Given the description of an element on the screen output the (x, y) to click on. 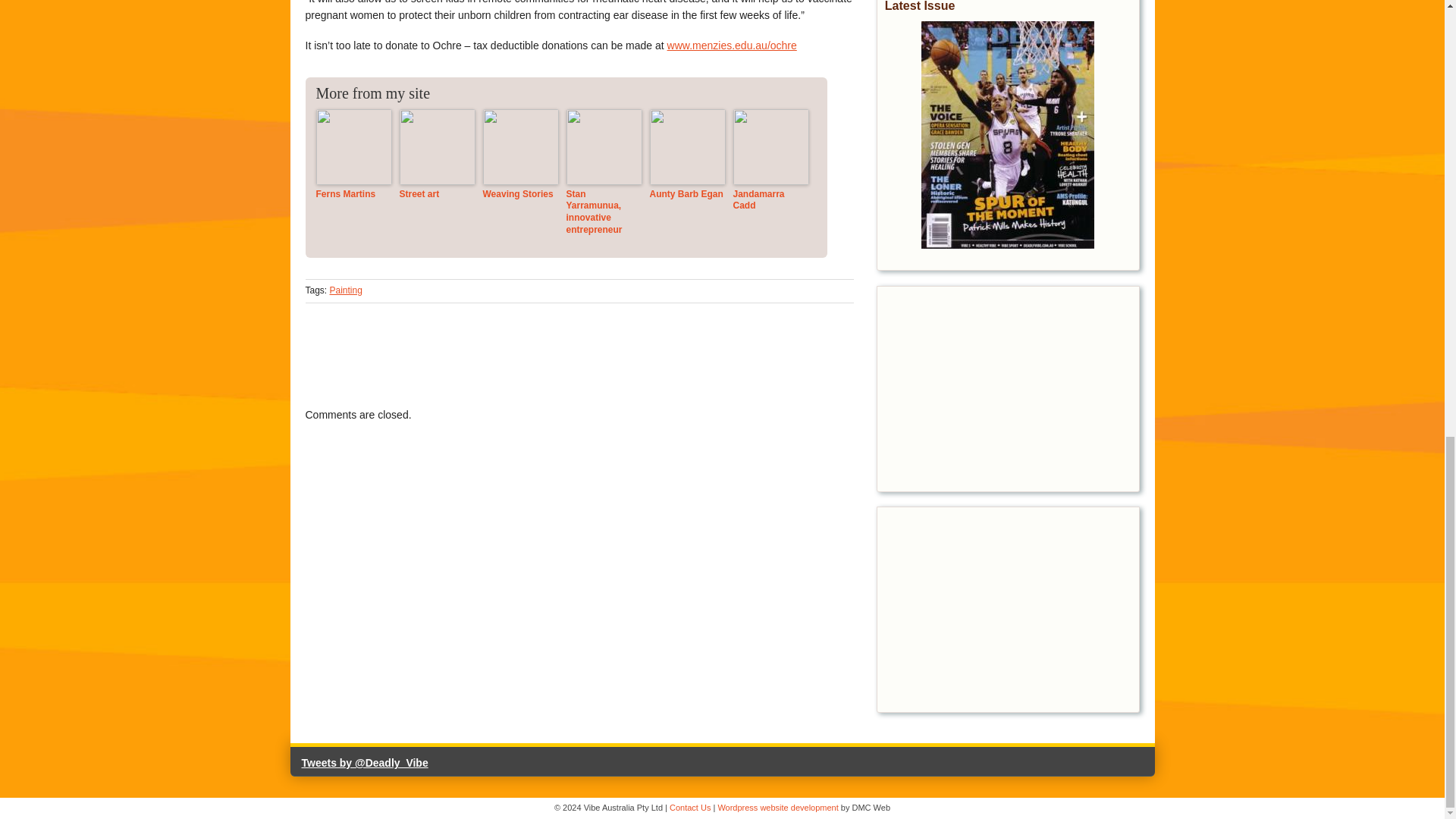
Street art (436, 194)
Weaving Stories (519, 194)
Ferns Martins (353, 194)
Jandamarra Cadd (770, 200)
Stan Yarramunua, innovative entrepreneur (604, 212)
Aunty Barb Egan (687, 194)
Painting (346, 290)
